Given the description of an element on the screen output the (x, y) to click on. 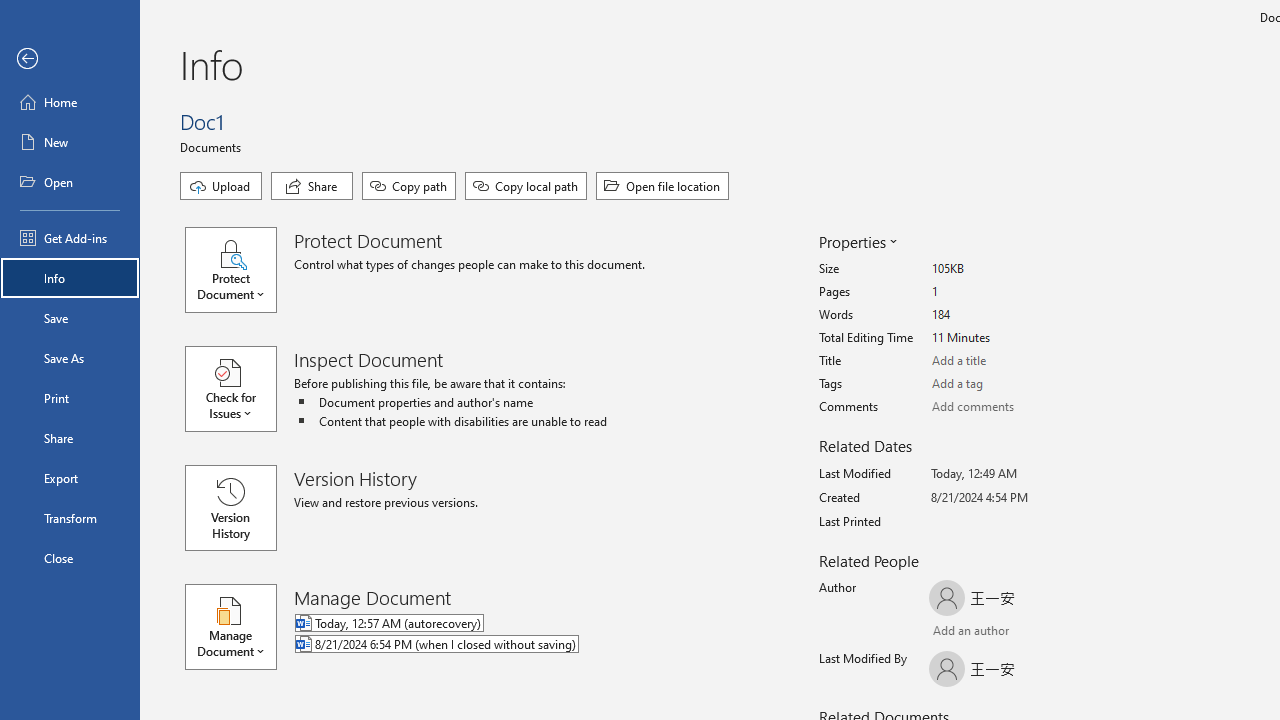
Open (69, 182)
Words (1006, 315)
Info (69, 277)
Save As (69, 357)
Back (69, 59)
Title (1006, 361)
Pages (1006, 291)
Browse Address Book (1047, 633)
Check for Issues (239, 389)
Add an author (949, 632)
Export (69, 477)
Print (69, 398)
